Given the description of an element on the screen output the (x, y) to click on. 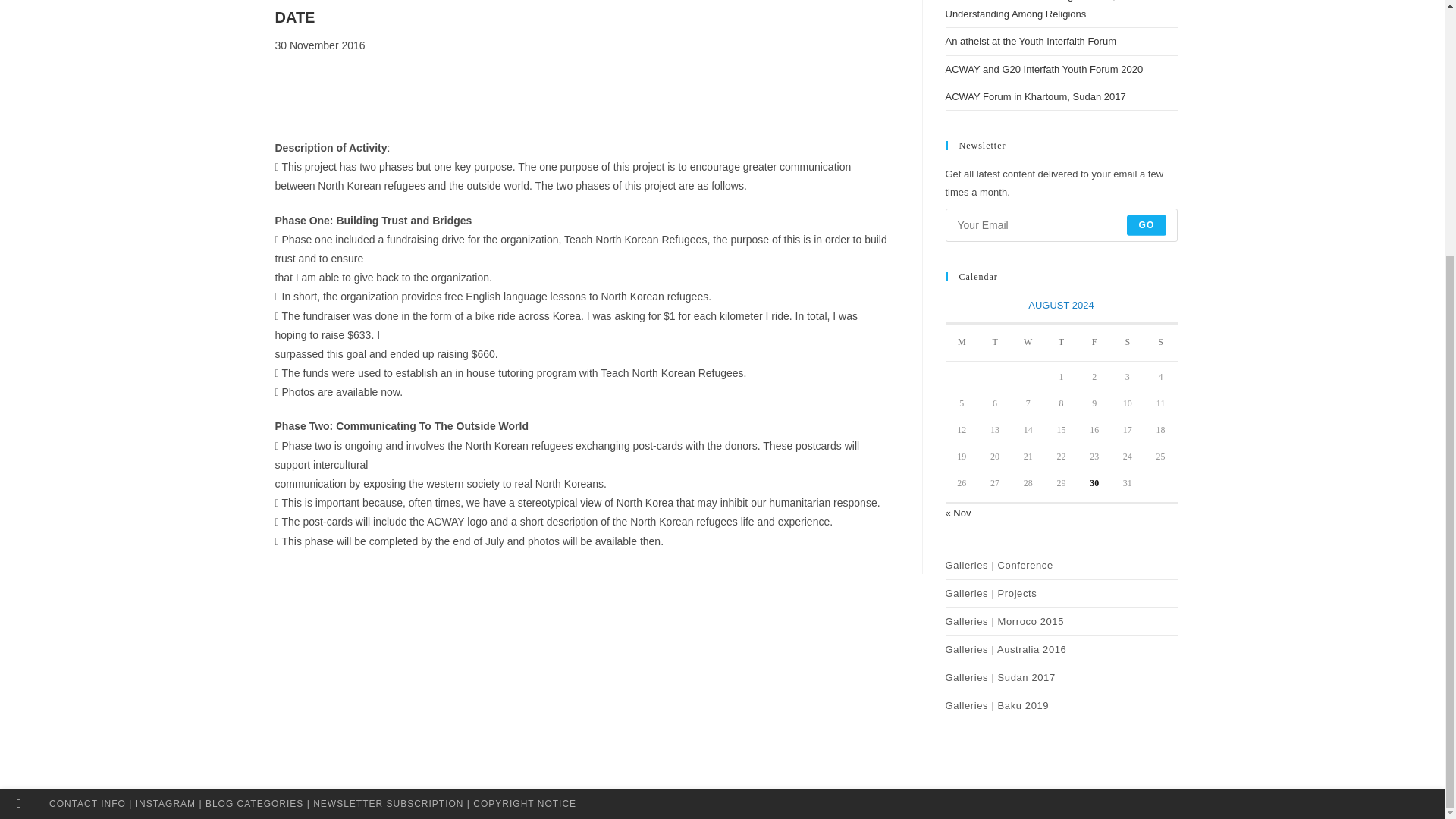
Wednesday (1028, 342)
Saturday (1127, 342)
Monday (961, 342)
Thursday (1061, 342)
Friday (1093, 342)
Sunday (1160, 342)
Tuesday (994, 342)
